Given the description of an element on the screen output the (x, y) to click on. 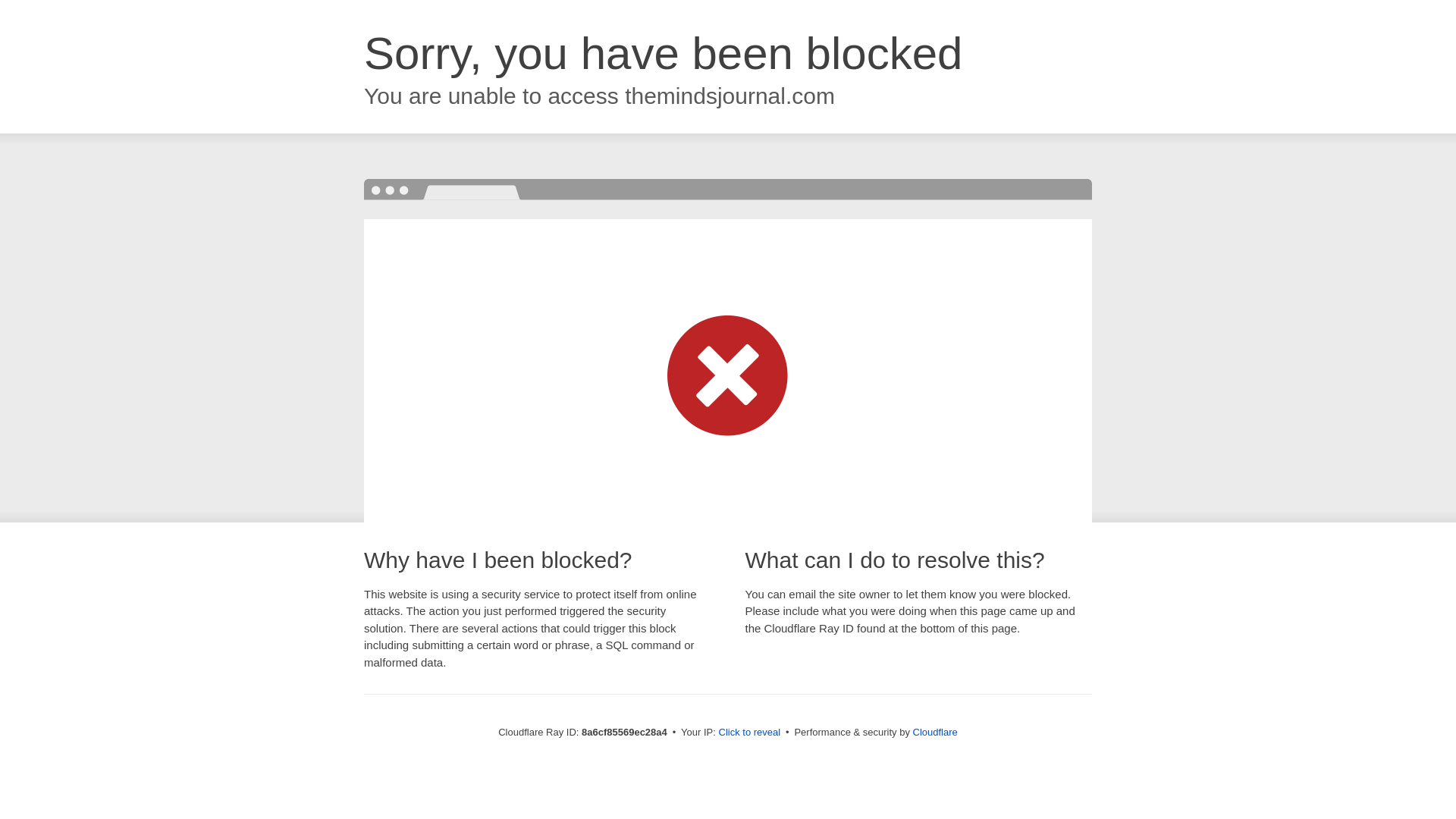
Click to reveal (749, 732)
Cloudflare (935, 731)
